Given the description of an element on the screen output the (x, y) to click on. 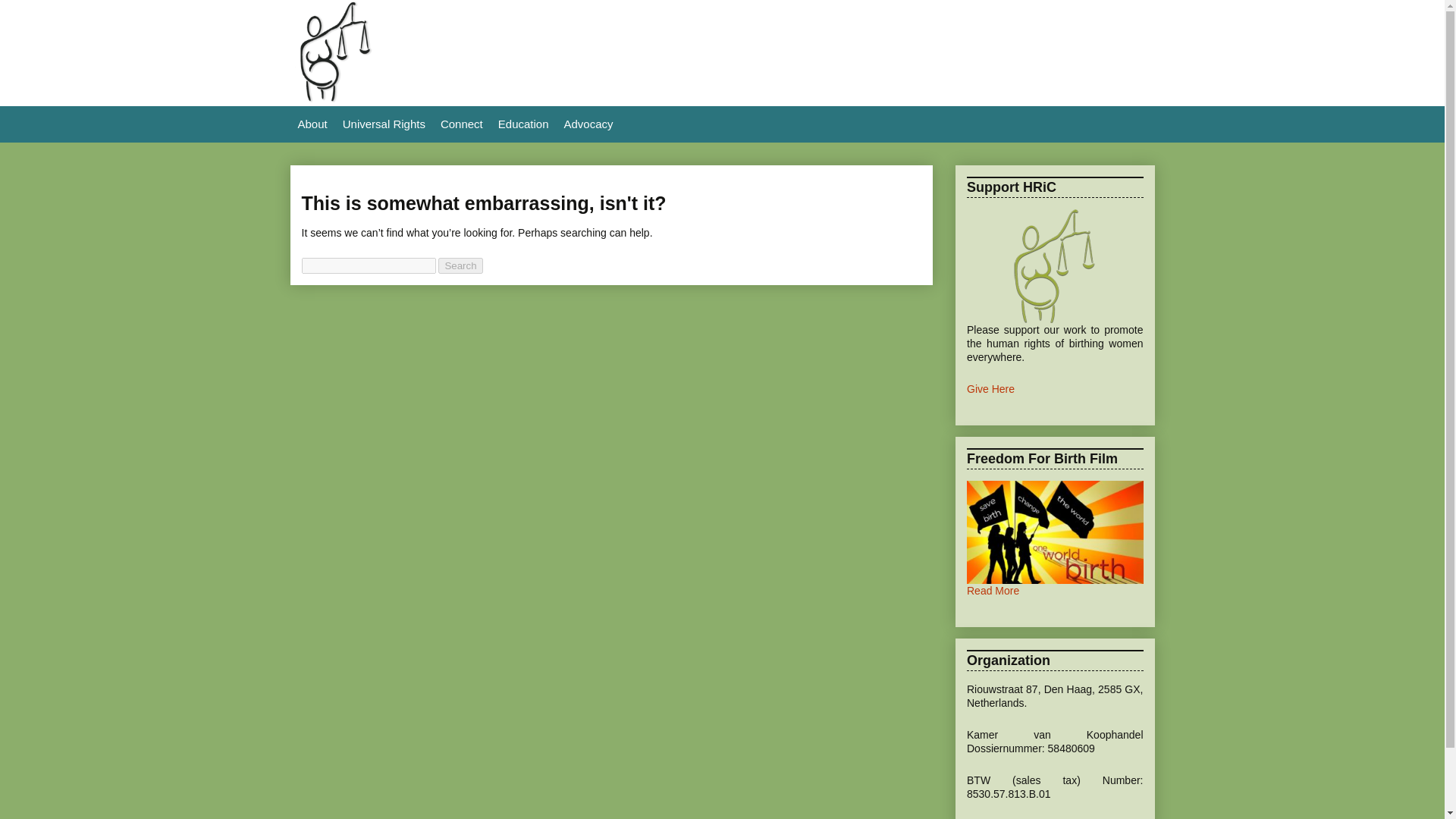
Connect (461, 124)
Search (459, 265)
Search (459, 265)
Give Here (990, 388)
Universal Rights (383, 124)
About (311, 124)
Read More (992, 590)
Advocacy (588, 124)
Logo (333, 99)
Education (523, 124)
